Given the description of an element on the screen output the (x, y) to click on. 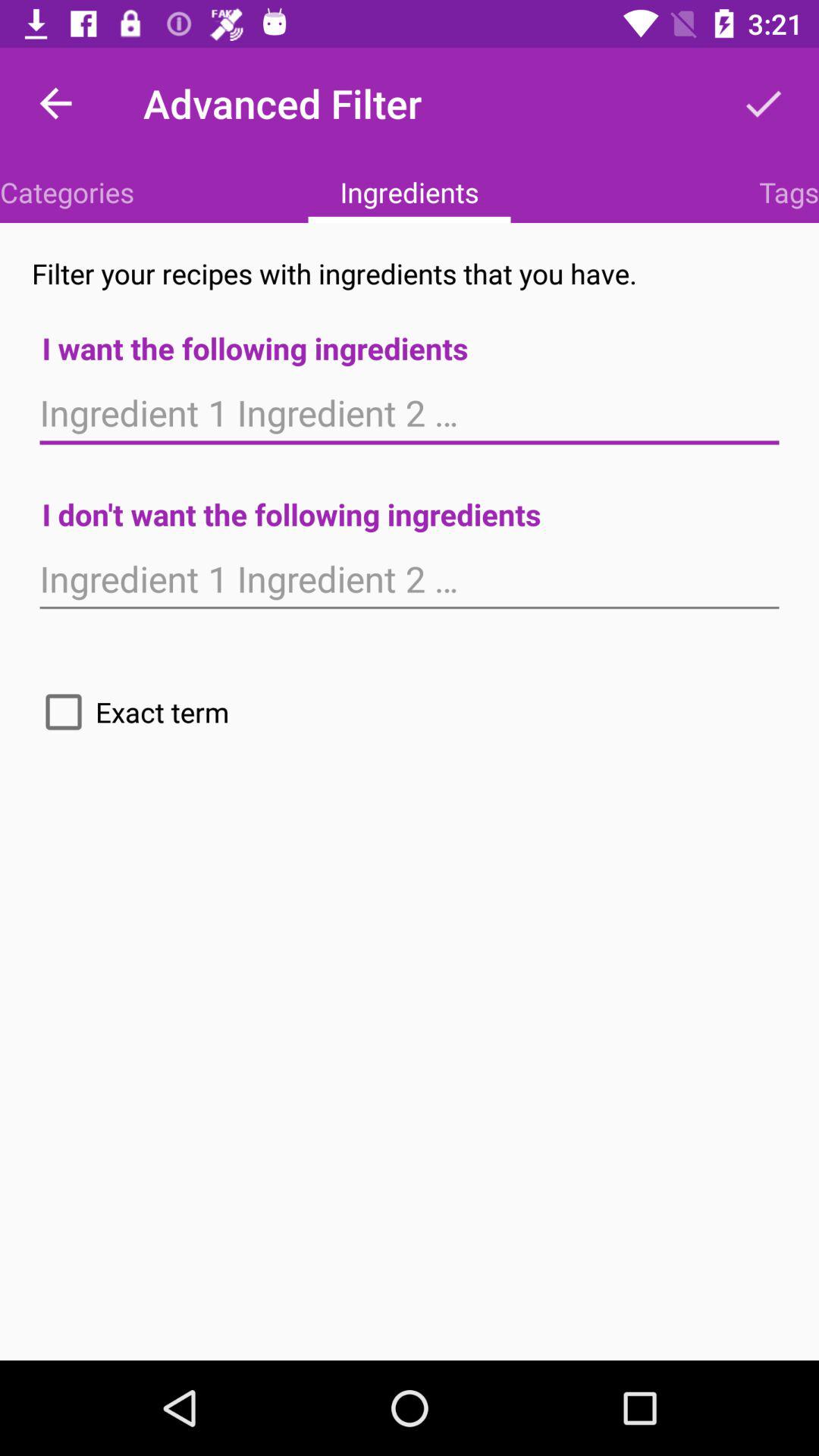
click the item above categories (55, 103)
